Given the description of an element on the screen output the (x, y) to click on. 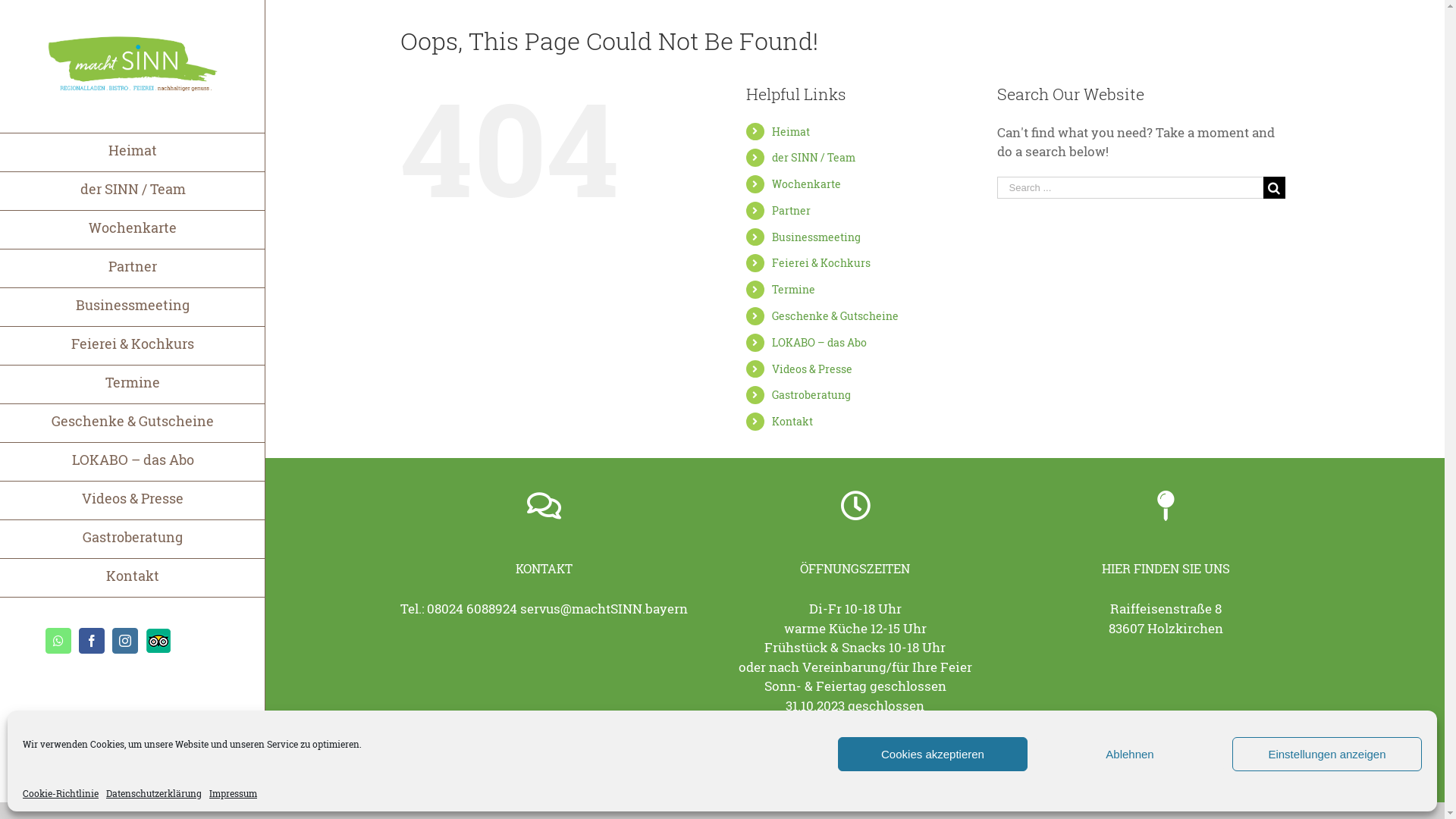
Termine Element type: text (132, 384)
Instagram Element type: text (1276, 776)
Partner Element type: text (132, 268)
Feierei & Kochkurs Element type: text (132, 345)
Videos & Presse Element type: text (132, 500)
Tripadvisor Element type: text (1304, 776)
Termine Element type: text (793, 289)
servus@machtSINN.bayern Element type: text (603, 608)
Heimat Element type: text (132, 152)
der SINN / Team Element type: text (813, 157)
Geschenke & Gutscheine Element type: text (834, 315)
Feierei & Kochkurs Element type: text (820, 262)
Heimat Element type: text (790, 131)
Instagram Element type: text (125, 640)
Wochenkarte Element type: text (805, 183)
Gastroberatung Element type: text (810, 394)
Tripadvisor Element type: text (158, 640)
Businessmeeting Element type: text (815, 236)
Kontakt Element type: text (791, 421)
Kontakt Element type: text (132, 577)
der SINN / Team Element type: text (132, 191)
Cookie-Richtlinie Element type: text (60, 793)
Ablehnen Element type: text (1129, 754)
Facebook Element type: text (91, 640)
Geschenke & Gutscheine Element type: text (132, 423)
Gastroberatung Element type: text (132, 539)
Cookies akzeptieren Element type: text (932, 754)
Impressum Element type: text (233, 793)
Whatsapp Element type: text (1222, 776)
Businessmeeting Element type: text (132, 307)
Videos & Presse Element type: text (811, 368)
Impressum Element type: text (636, 774)
Facebook Element type: text (1249, 776)
Wochenkarte Element type: text (132, 229)
Whatsapp Element type: text (58, 640)
Partner Element type: text (790, 210)
Einstellungen anzeigen Element type: text (1326, 754)
